Given the description of an element on the screen output the (x, y) to click on. 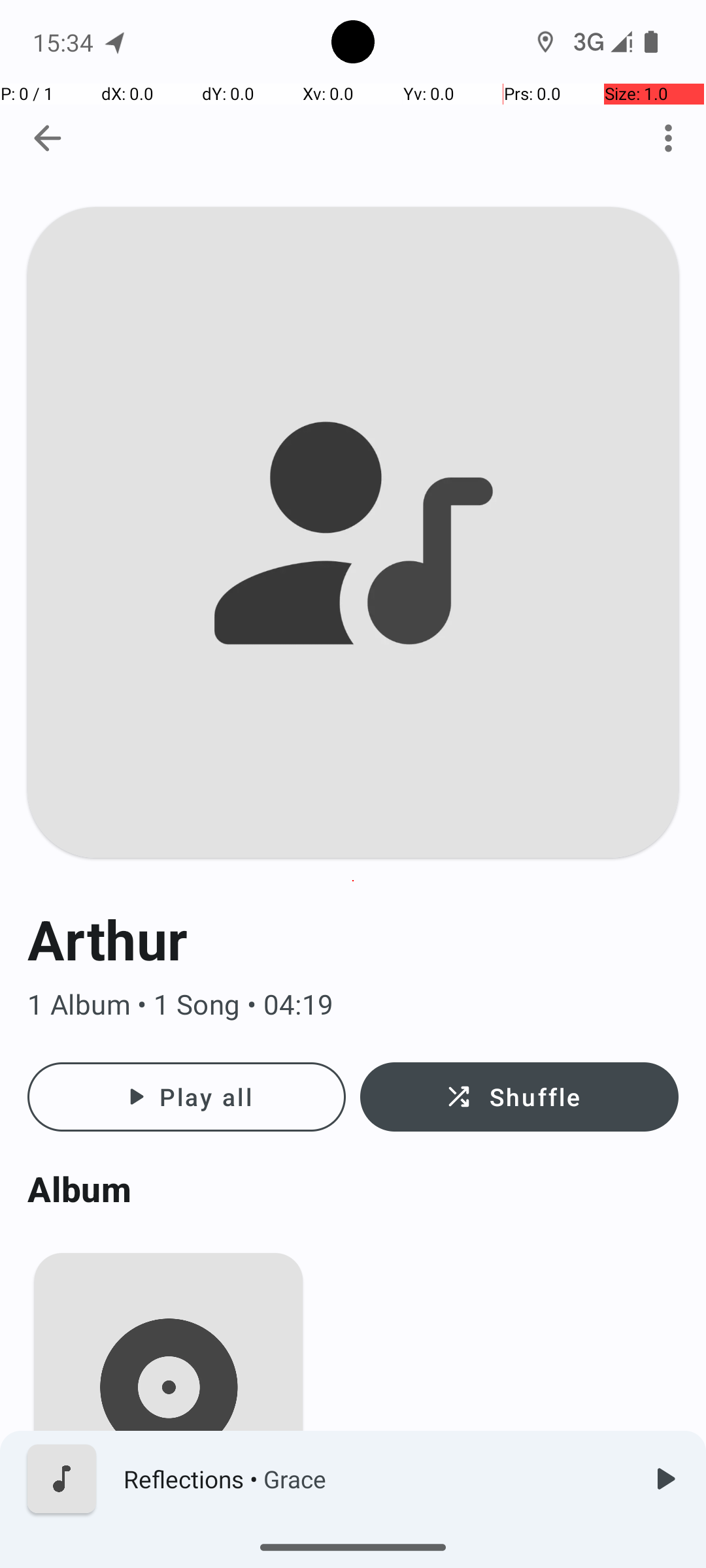
Arthur Element type: android.widget.TextView (352, 939)
1 Album • 1 Song • 04:19 Element type: android.widget.TextView (352, 1004)
Play all Element type: android.widget.Button (186, 1096)
Shuffle Element type: android.widget.Button (519, 1096)
Album Element type: android.widget.TextView (353, 1188)
Reflections • Grace Element type: android.widget.TextView (372, 1478)
Music Element type: android.widget.TextView (168, 1544)
